Given the description of an element on the screen output the (x, y) to click on. 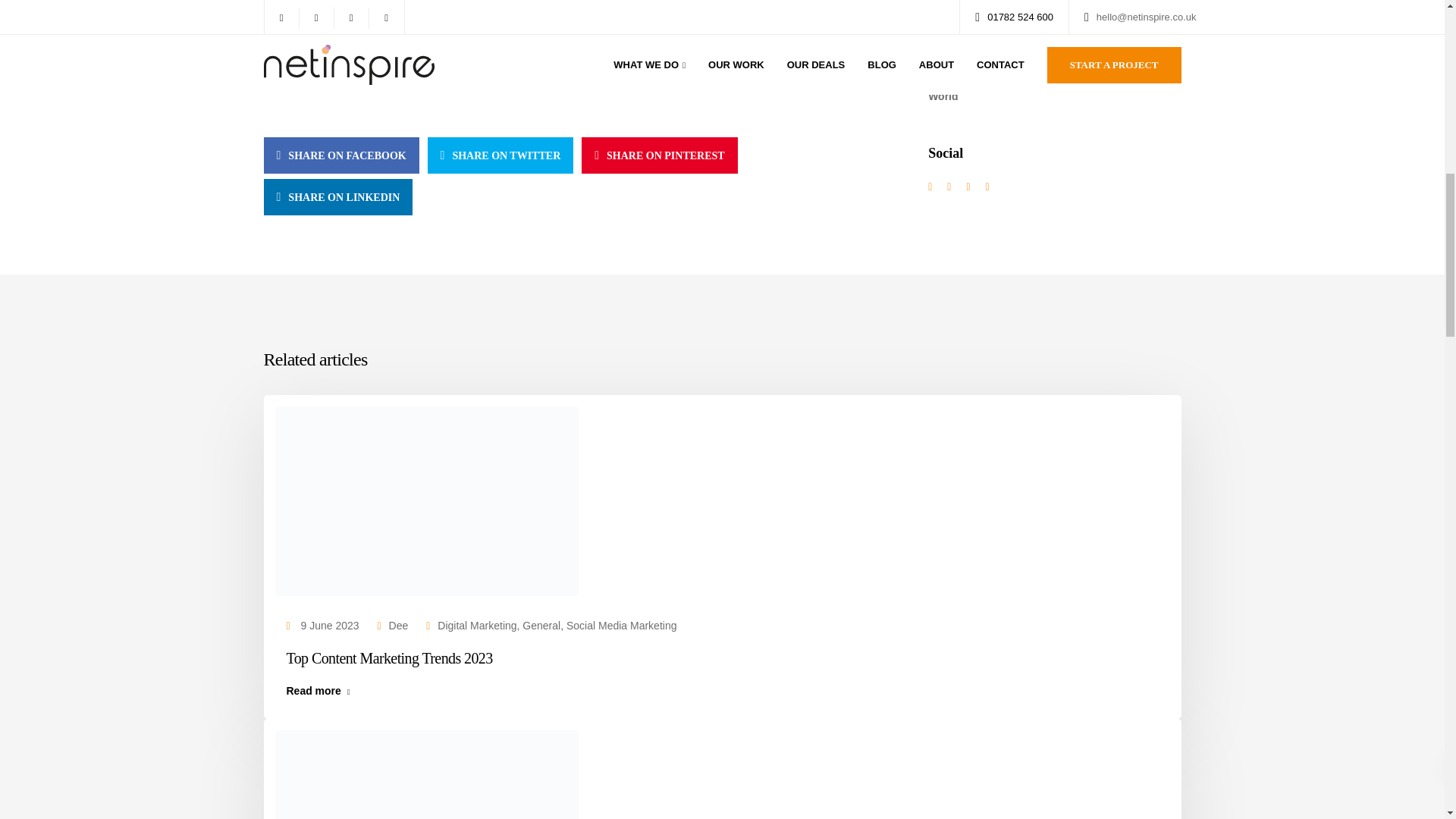
SHARE ON PINTEREST (658, 155)
SHARE ON LINKEDIN (338, 197)
SHARE ON TWITTER (500, 155)
SHARE ON FACEBOOK (341, 155)
